Given the description of an element on the screen output the (x, y) to click on. 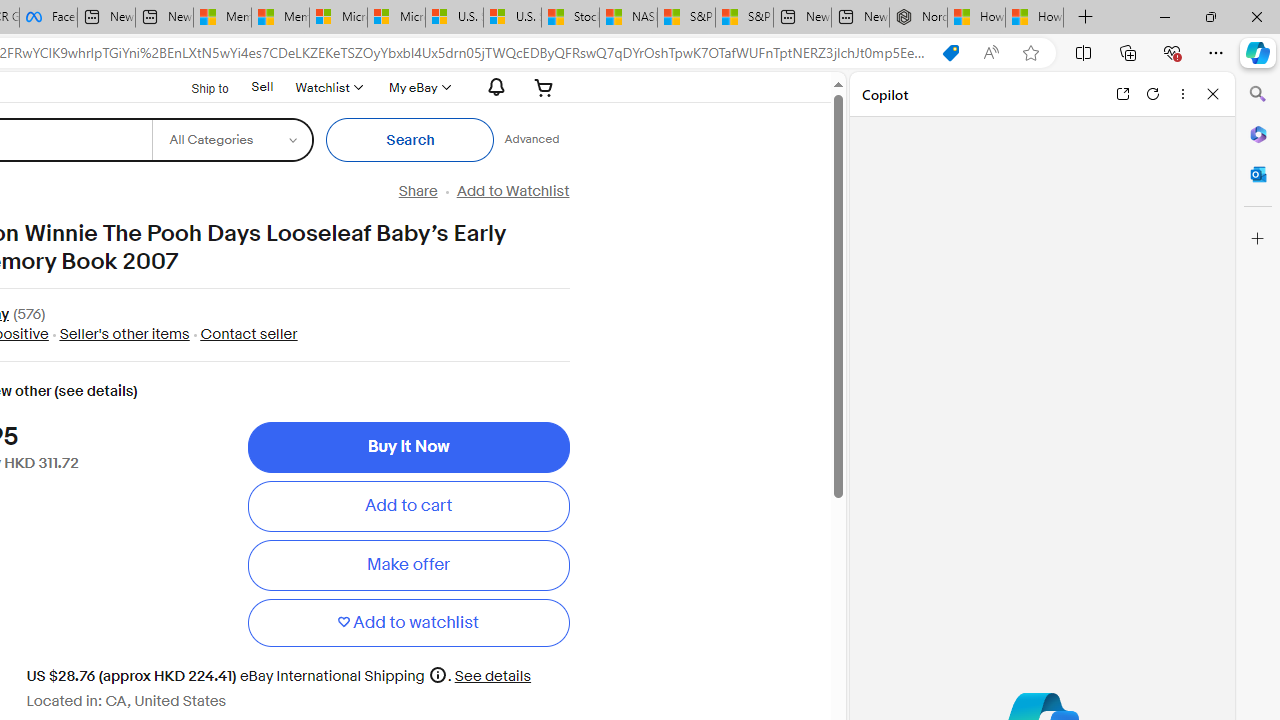
More information (437, 673)
Watchlist (328, 87)
Sell (262, 86)
Expand Cart (543, 87)
My eBayExpand My eBay (418, 87)
Ship to (197, 88)
  Seller's other items (118, 334)
Share (417, 191)
